Given the description of an element on the screen output the (x, y) to click on. 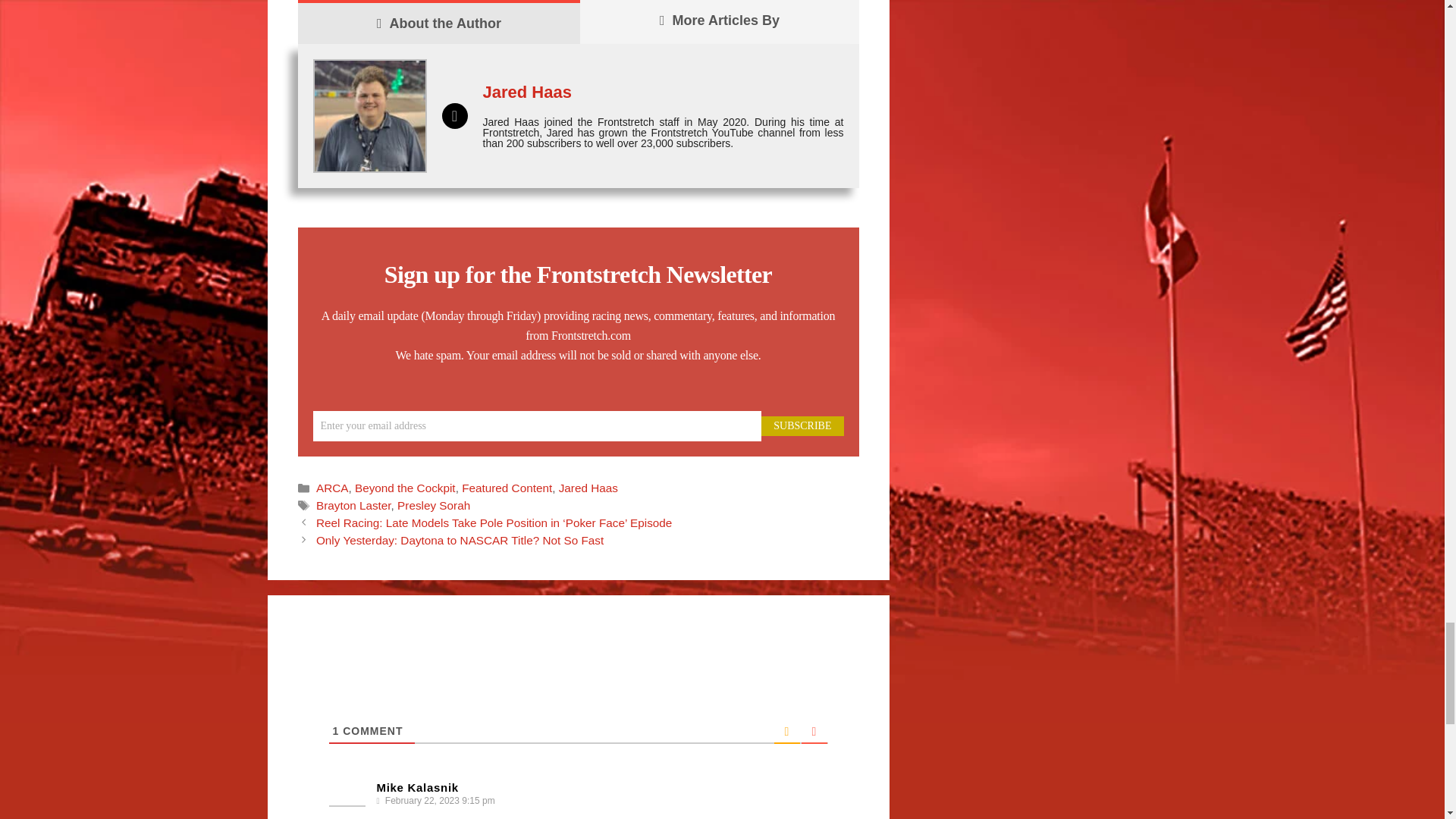
Jared Haas (525, 91)
SUBSCRIBE (802, 425)
Beyond the Cockpit (405, 487)
Featured Content (506, 487)
ARCA (332, 487)
